Given the description of an element on the screen output the (x, y) to click on. 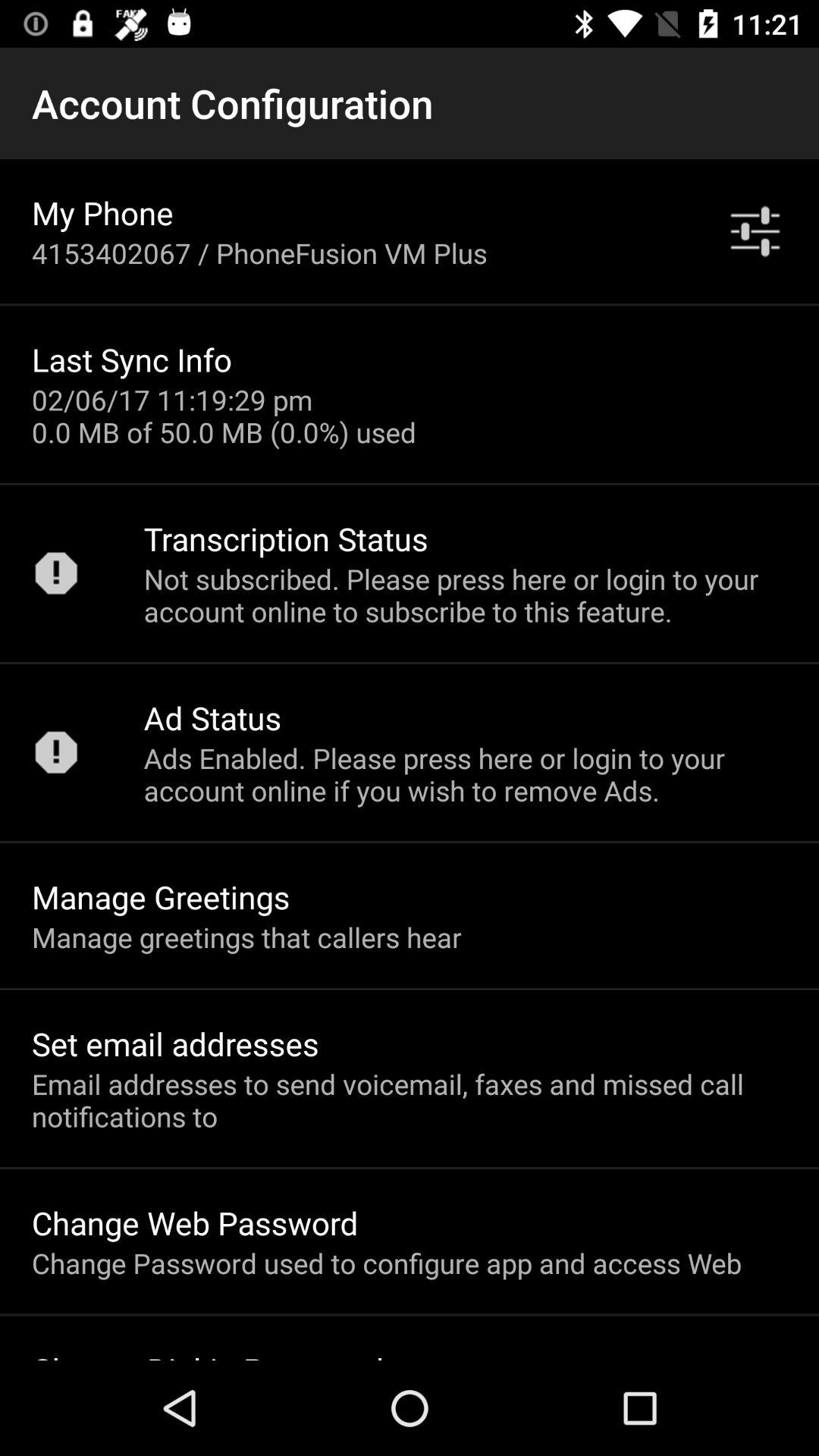
launch icon above 02 06 17 app (131, 359)
